Given the description of an element on the screen output the (x, y) to click on. 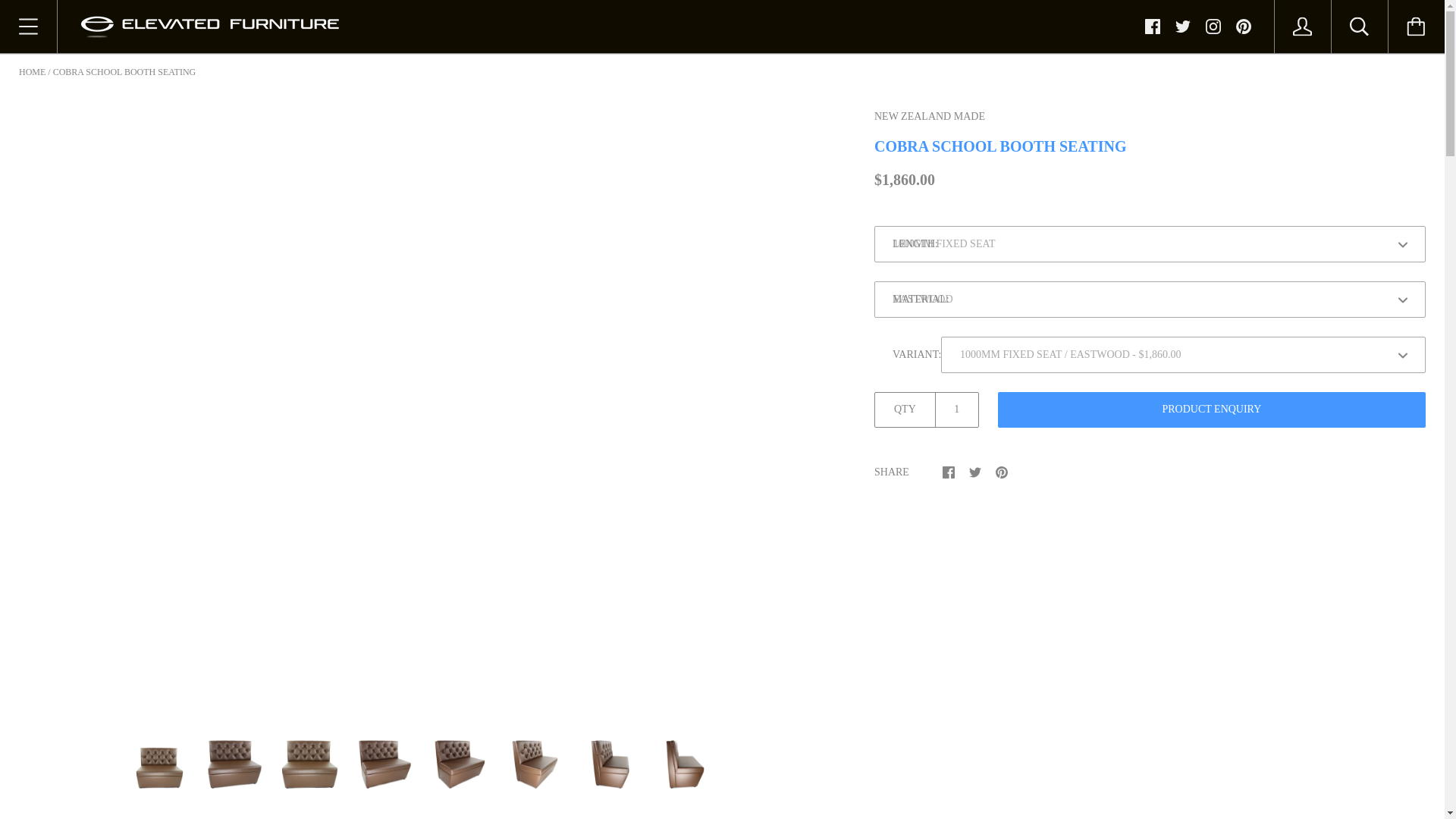
Twitter (1182, 26)
Pinterest (1243, 26)
1 (957, 409)
Facebook (1152, 26)
Instagram (1213, 26)
